Given the description of an element on the screen output the (x, y) to click on. 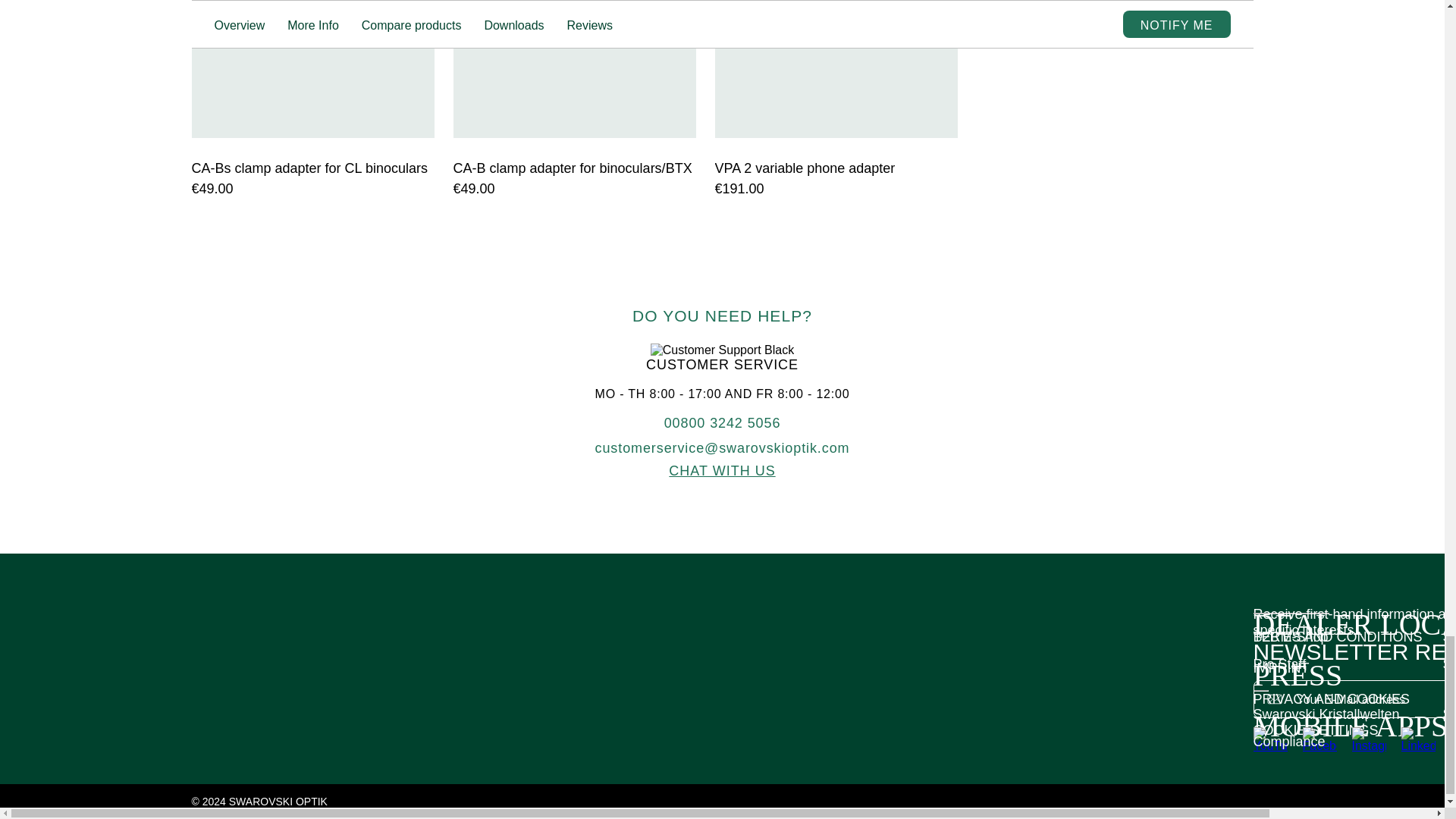
Chat with us (721, 470)
